Given the description of an element on the screen output the (x, y) to click on. 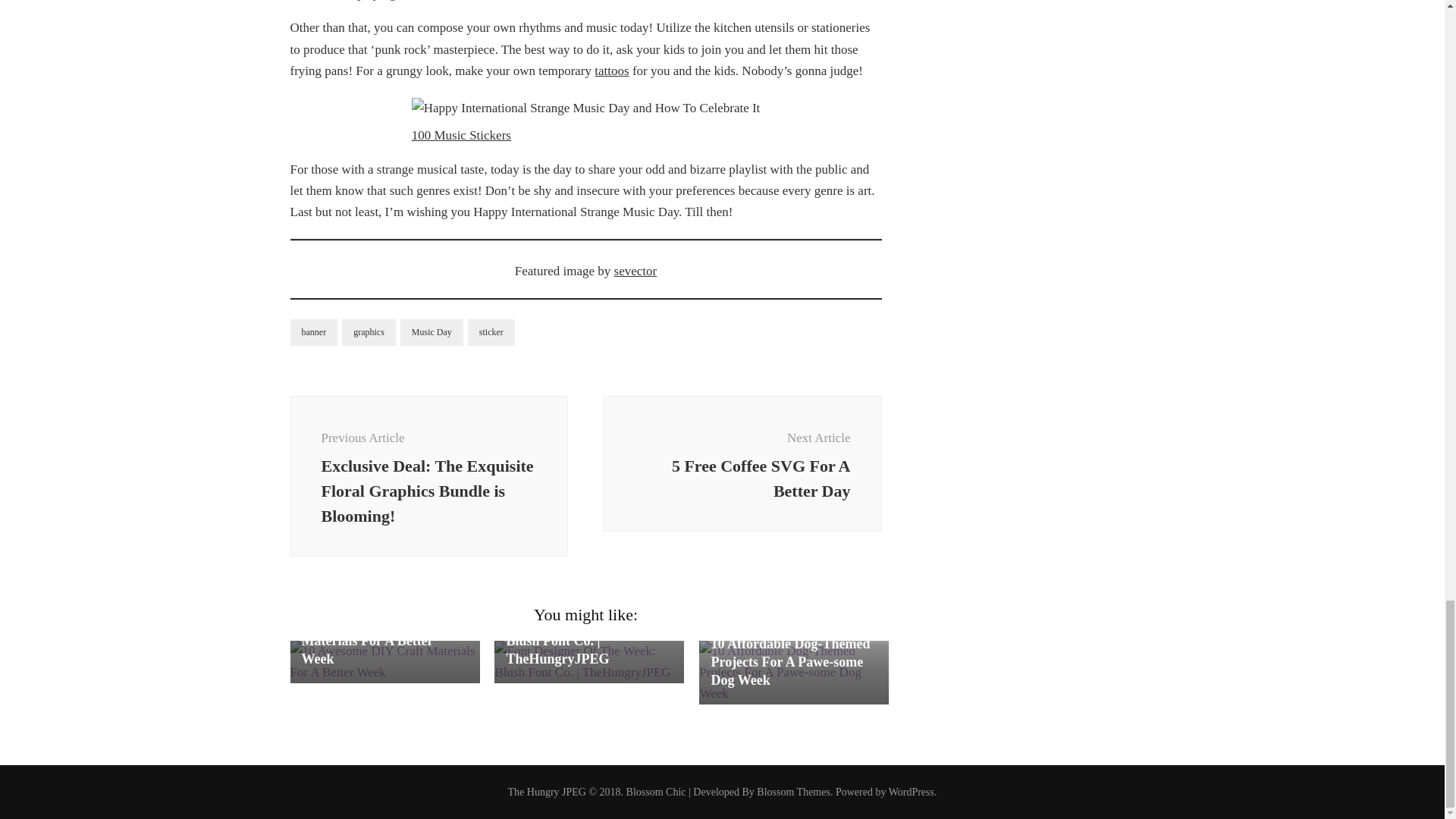
banner (313, 332)
sticker (491, 332)
sevector (636, 270)
10 Affordable Dog-Themed Projects For A Pawe-some Dog Week (789, 661)
tattoos (611, 70)
Music Day (431, 332)
10 Awesome DIY Craft Materials For A Better Week (368, 640)
100 Music Stickers (461, 134)
ctor illustration (743, 462)
